Given the description of an element on the screen output the (x, y) to click on. 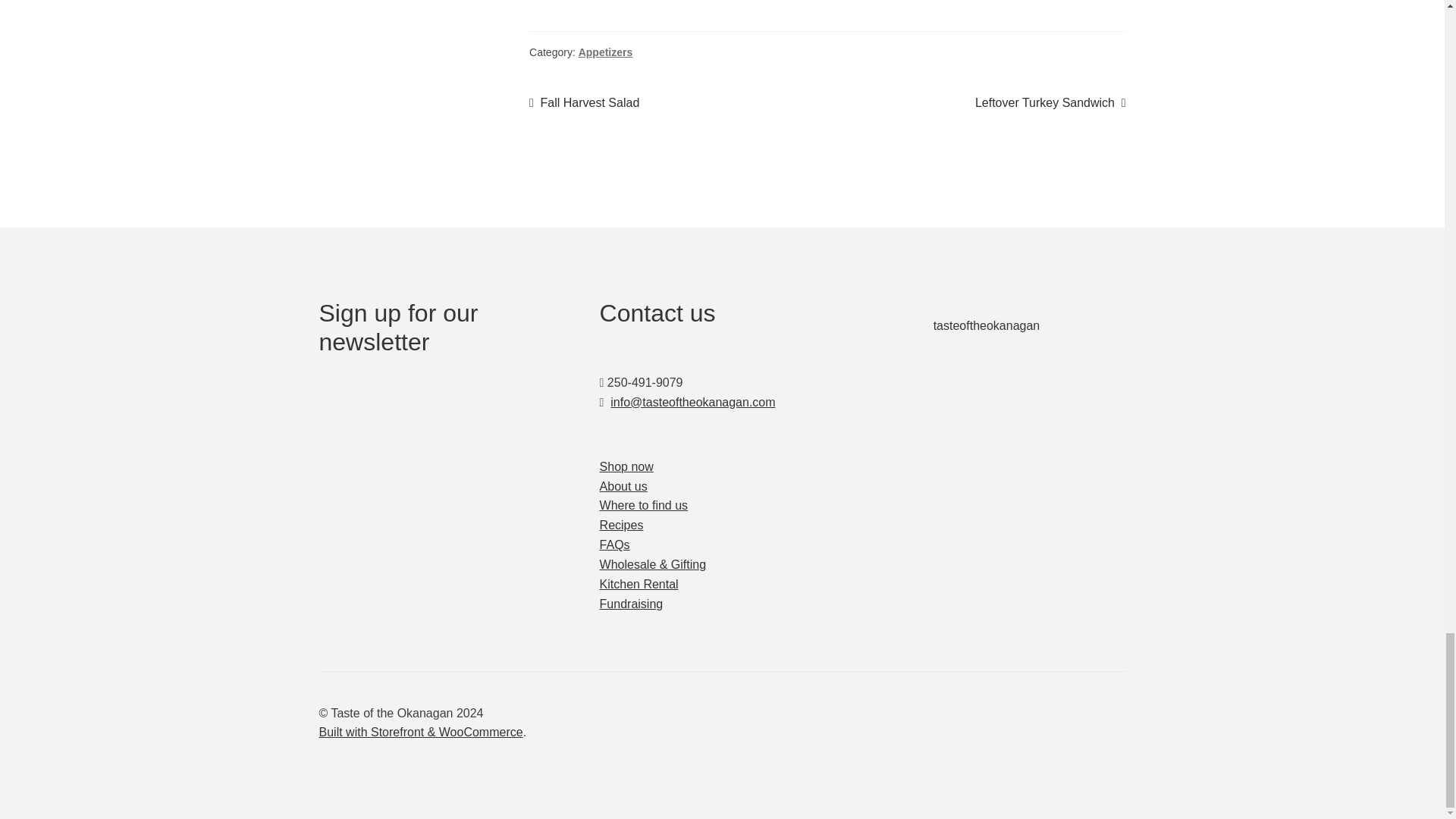
Appetizers (605, 51)
WooCommerce - The Best eCommerce Platform for WordPress (1050, 103)
